Given the description of an element on the screen output the (x, y) to click on. 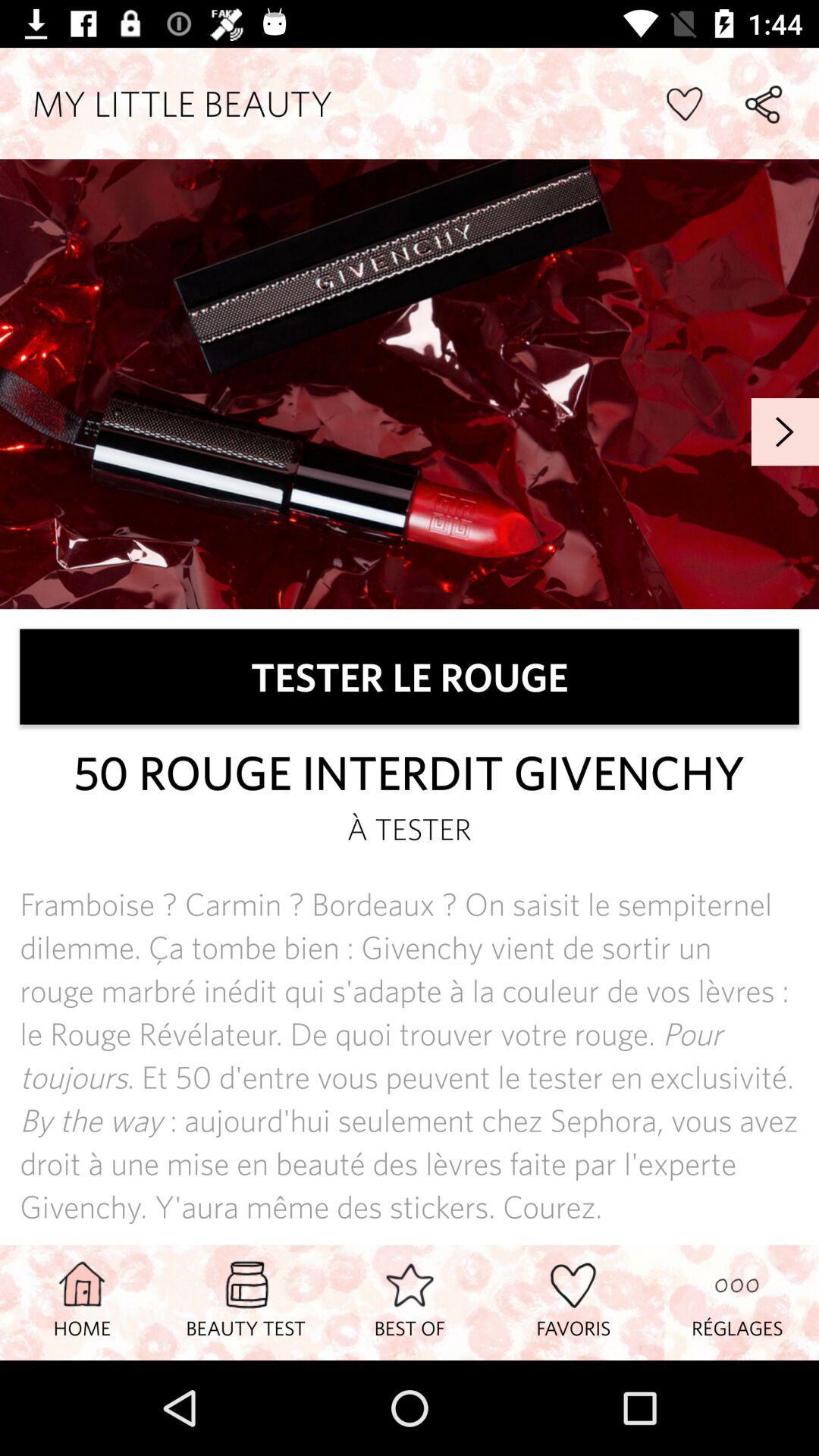
swipe to best of item (409, 1302)
